Given the description of an element on the screen output the (x, y) to click on. 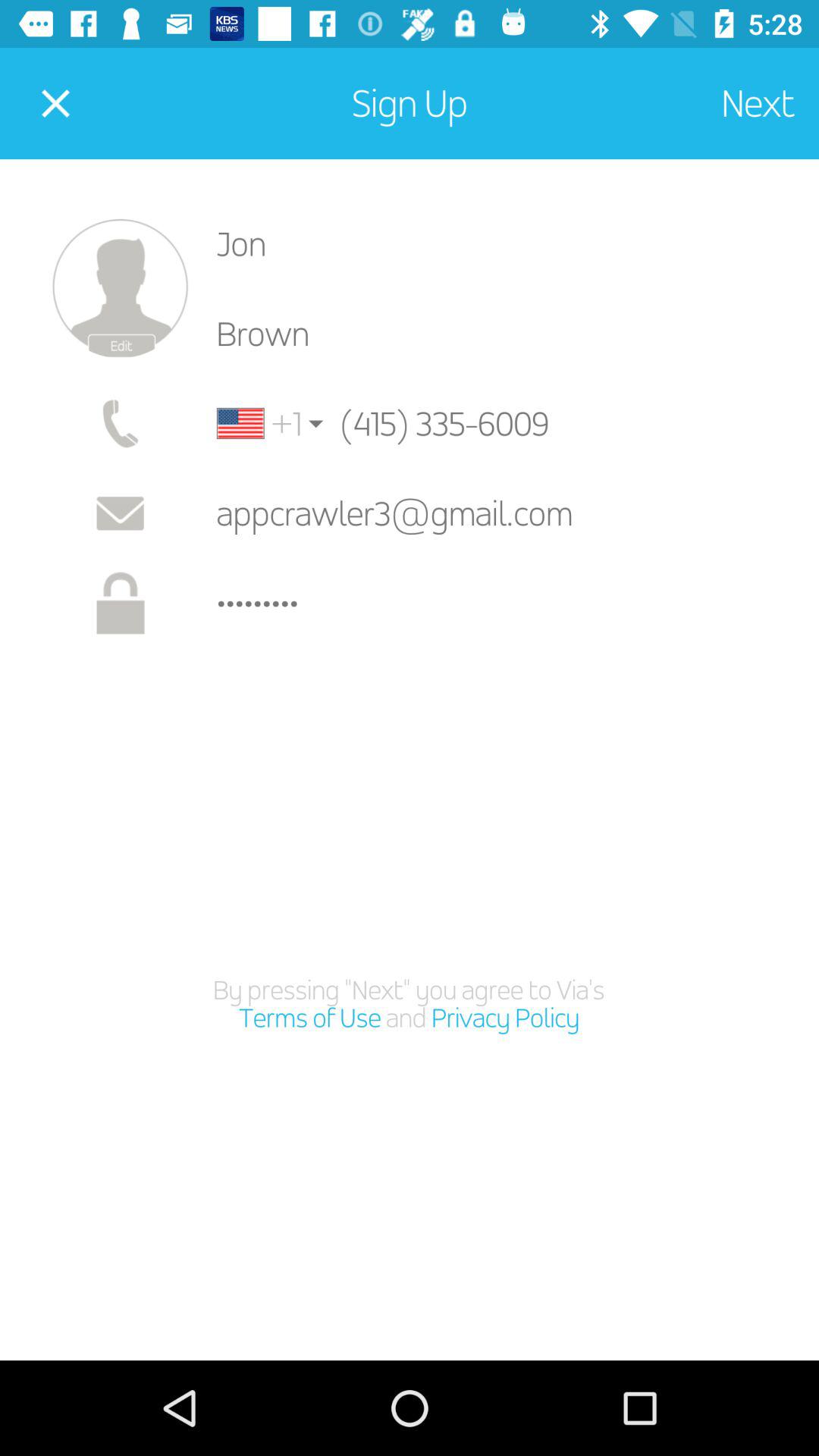
open item below crowd3116 (409, 1003)
